Given the description of an element on the screen output the (x, y) to click on. 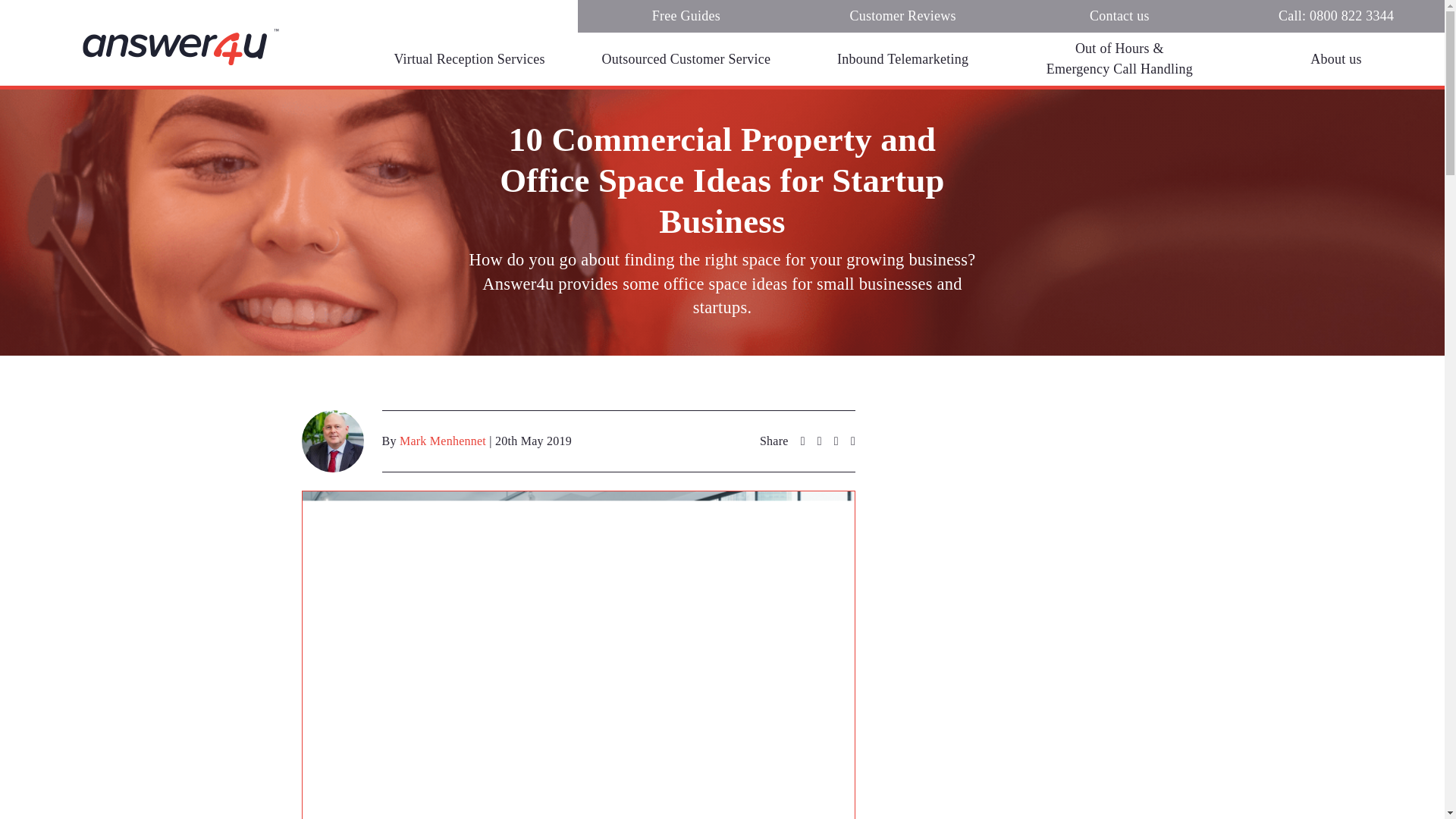
Contact us (1119, 16)
Customer Reviews (902, 16)
Outsourced Customer Service (686, 58)
Free Guides (686, 16)
Virtual Reception Services (469, 58)
